Given the description of an element on the screen output the (x, y) to click on. 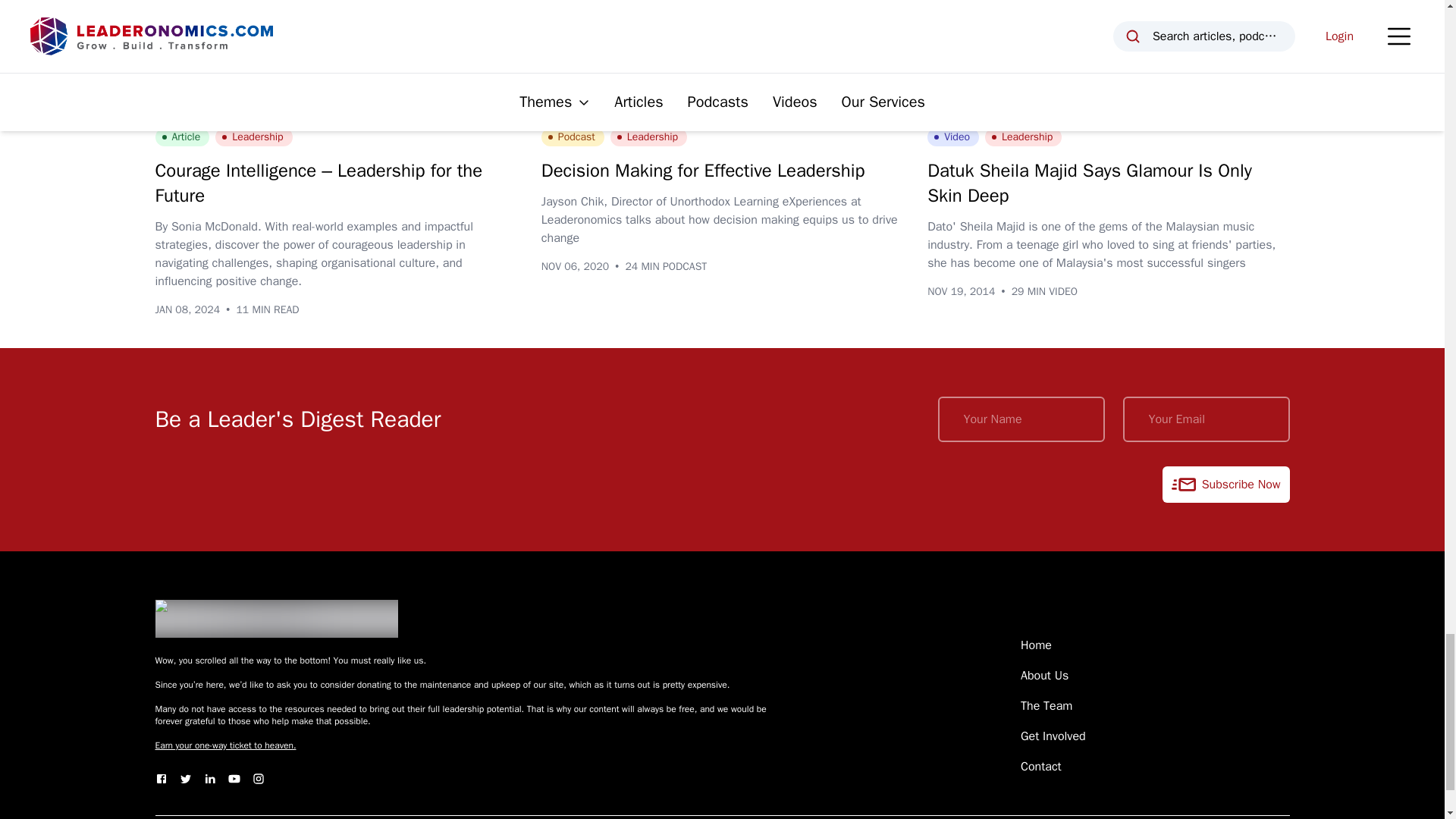
Article (181, 136)
Leadership (648, 136)
Podcast (572, 136)
Leadership (253, 136)
